Given the description of an element on the screen output the (x, y) to click on. 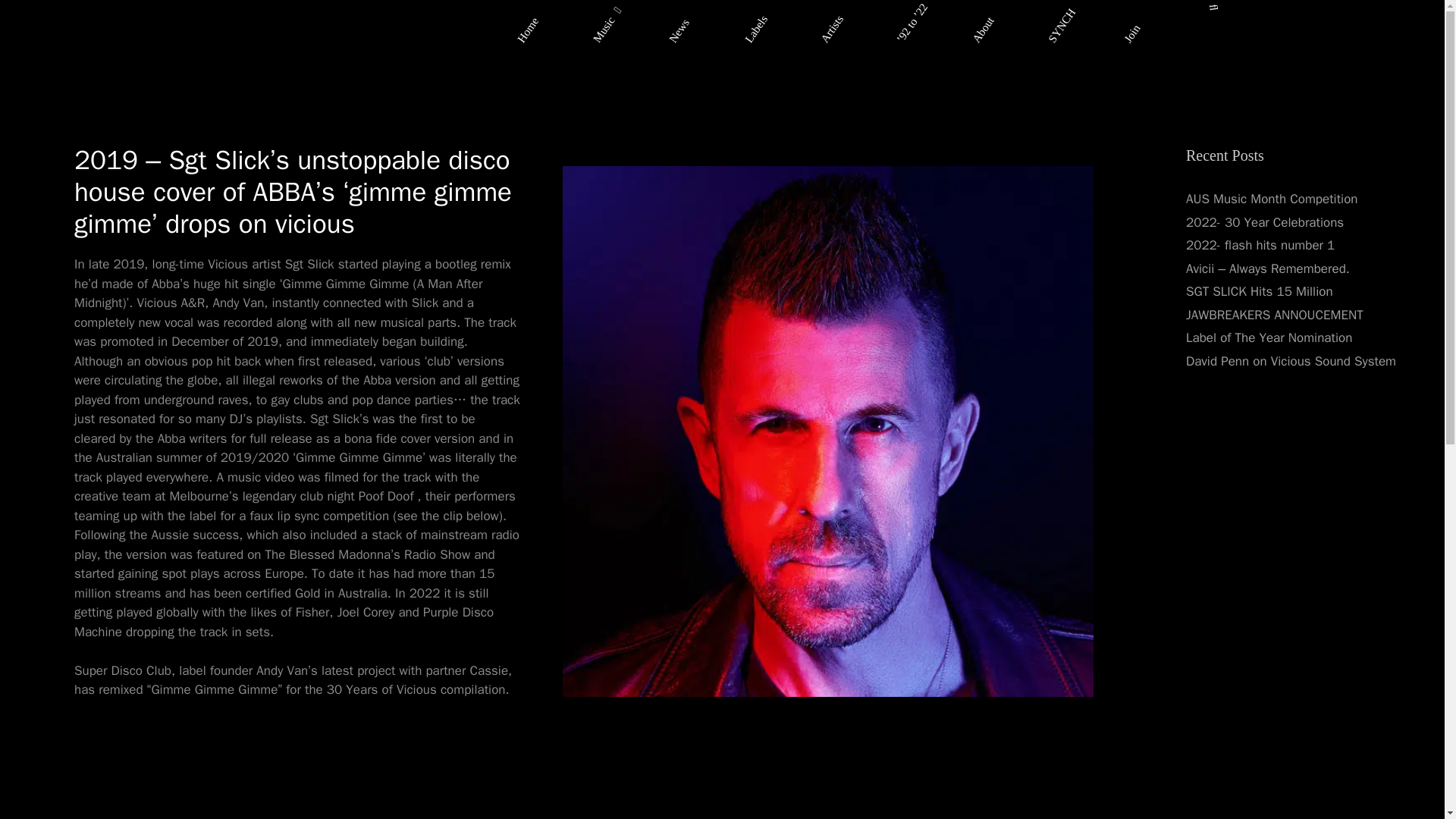
Music (607, 12)
Home (531, 12)
